Given the description of an element on the screen output the (x, y) to click on. 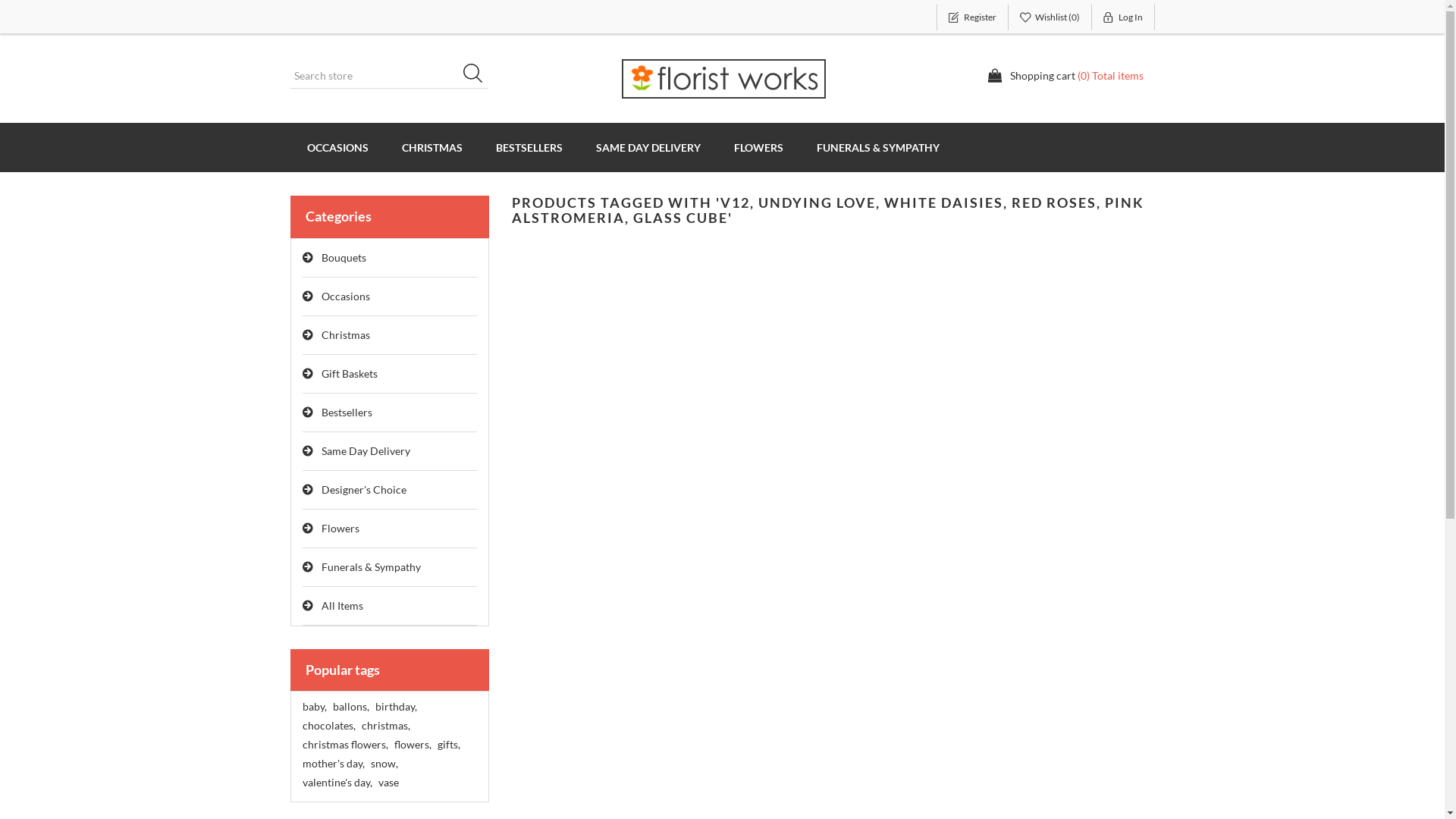
Christmas Element type: text (388, 335)
FLOWERS Element type: text (758, 147)
Bestsellers Element type: text (388, 412)
baby, Element type: text (313, 706)
valentine's day, Element type: text (336, 782)
flowers, Element type: text (412, 744)
Flowers Element type: text (388, 528)
Shopping cart (0) Total items Element type: text (1065, 75)
OCCASIONS Element type: text (336, 147)
chocolates, Element type: text (327, 725)
Designer's Choice Element type: text (388, 489)
BESTSELLERS Element type: text (529, 147)
Log In Element type: text (1123, 17)
birthday, Element type: text (395, 706)
snow, Element type: text (383, 763)
CHRISTMAS Element type: text (432, 147)
Gift Baskets Element type: text (388, 373)
FUNERALS & SYMPATHY Element type: text (877, 147)
Occasions Element type: text (388, 296)
gifts, Element type: text (447, 744)
ballons, Element type: text (350, 706)
christmas flowers, Element type: text (344, 744)
vase Element type: text (387, 782)
SAME DAY DELIVERY Element type: text (648, 147)
All Items Element type: text (388, 605)
mother's day, Element type: text (332, 763)
Same Day Delivery Element type: text (388, 451)
Funerals & Sympathy Element type: text (388, 567)
christmas, Element type: text (384, 725)
Bouquets Element type: text (388, 257)
Register Element type: text (971, 17)
Wishlist (0) Element type: text (1050, 17)
